Given the description of an element on the screen output the (x, y) to click on. 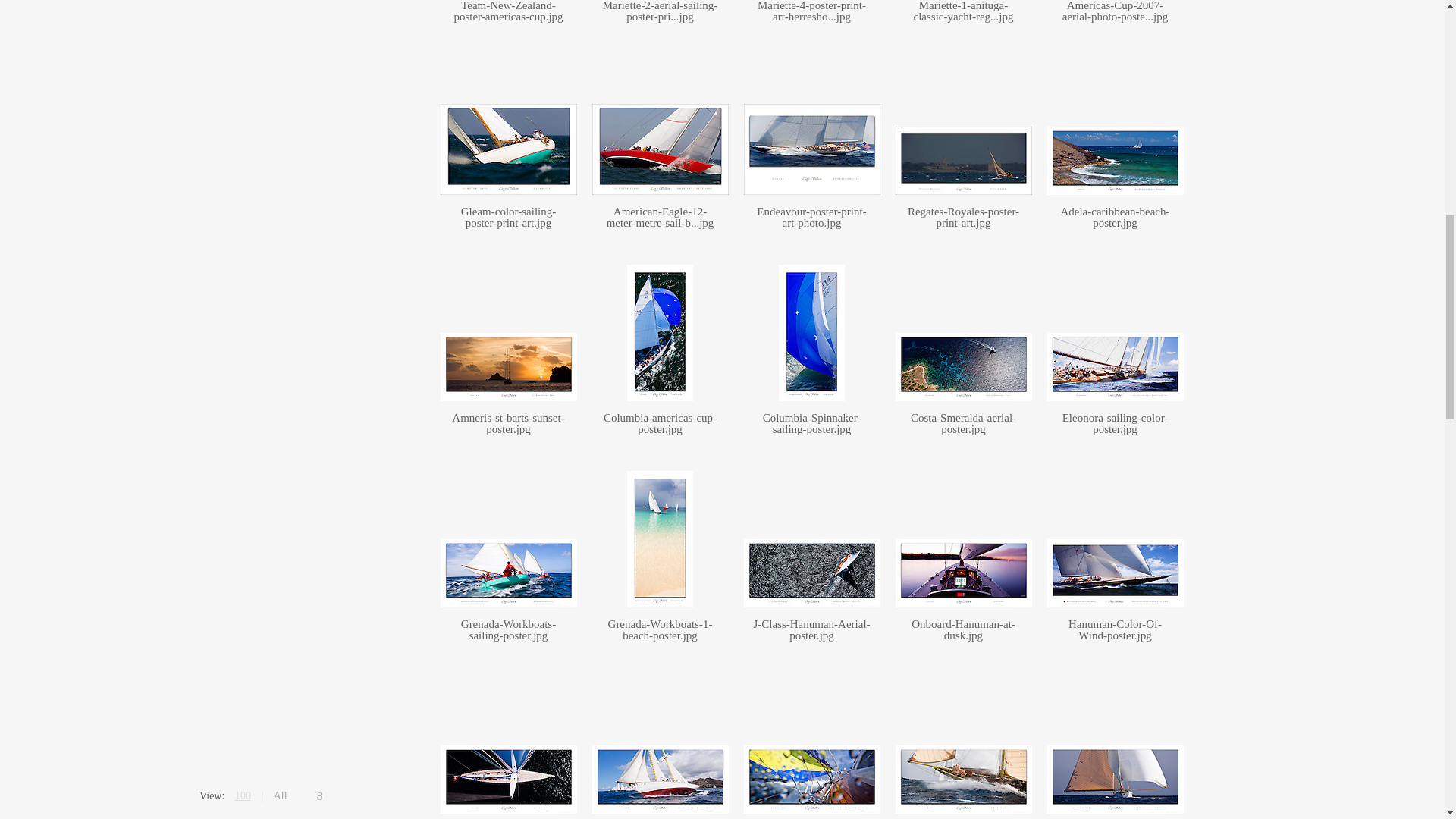
Team-New-Zealand-poster-americas-cup.jpg (507, 11)
Americas-Cup-2007-aerial-photo-poste...jpg (1115, 11)
Gleam-color-sailing-poster-print-art.jpg (508, 217)
Mariette-2-aerial-sailing-poster-pri...jpg (659, 11)
Mariette-4-poster-print-art-herresho...jpg (811, 11)
American-Eagle-12-meter-metre-sail-b...jpg (660, 217)
Mariette-1-anituga-classic-yacht-reg...jpg (962, 11)
